Given the description of an element on the screen output the (x, y) to click on. 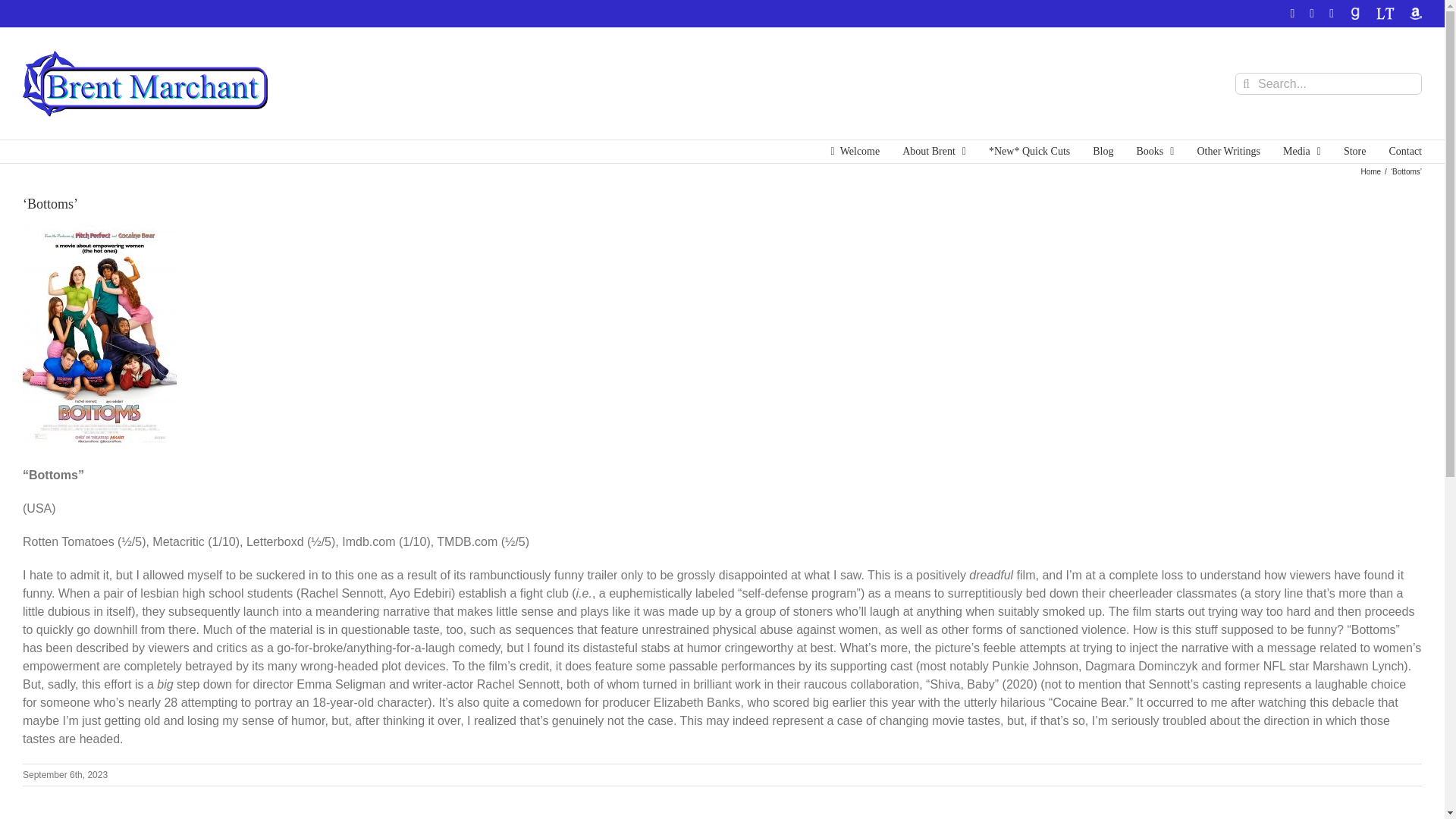
Twitter (1311, 13)
Store (1355, 151)
Media (1301, 151)
Amazon (1415, 13)
Books (1155, 151)
Blog (1103, 151)
LibraryThing (1384, 13)
About Brent (934, 151)
Other Writings (1228, 151)
GoodReads (1355, 13)
Facebook (1292, 13)
Contact (1405, 151)
Welcome (855, 151)
YouTube (1331, 13)
